Given the description of an element on the screen output the (x, y) to click on. 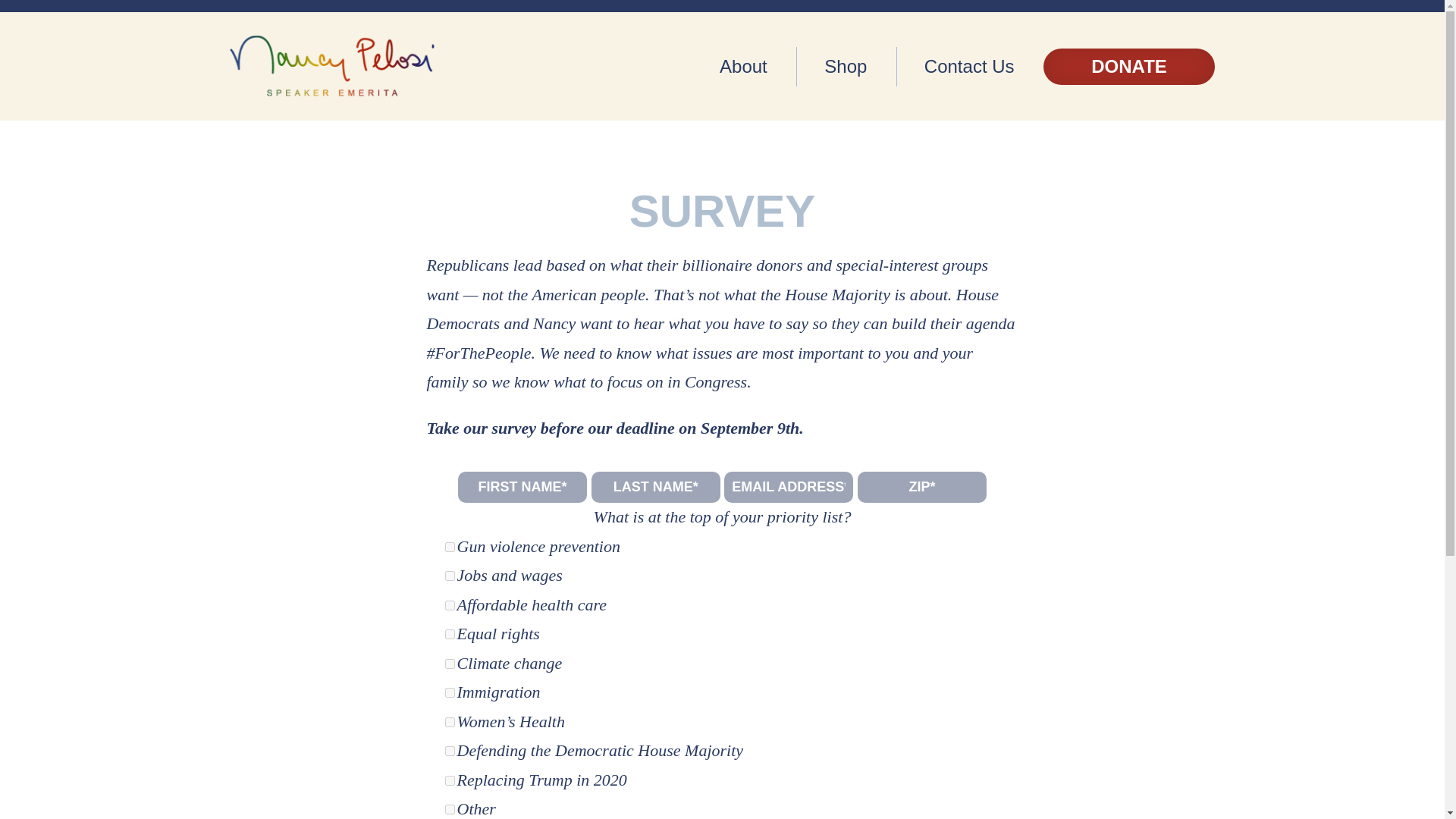
Shop (845, 66)
1 (449, 634)
1 (449, 692)
1 (449, 605)
DONATE (1128, 66)
1 (449, 809)
1 (449, 547)
About (743, 66)
Contact Us (969, 66)
1 (449, 750)
